Given the description of an element on the screen output the (x, y) to click on. 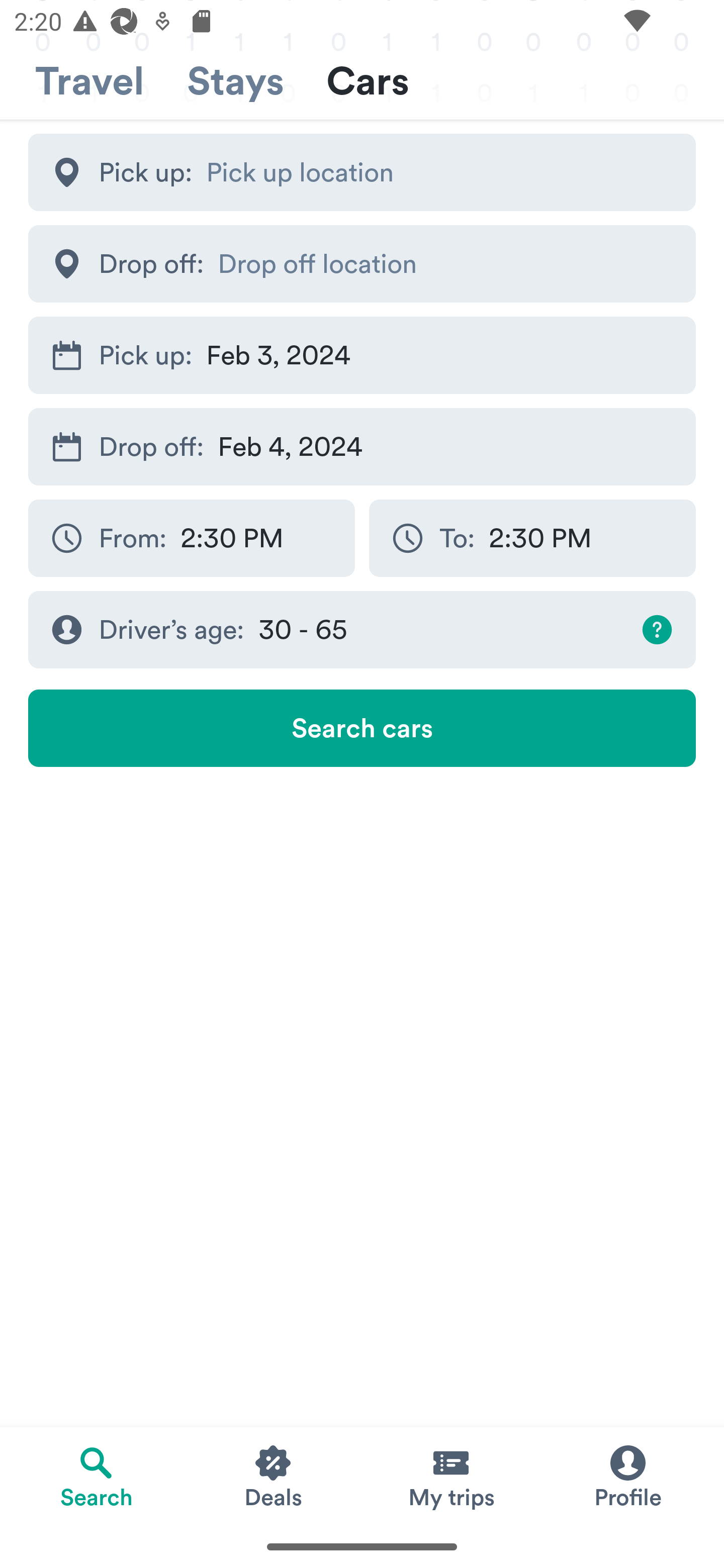
Travel (89, 81)
Stays (235, 81)
Cars (367, 81)
Pick up: (361, 172)
Drop off: (361, 263)
Pick up: Feb 3, 2024 (361, 355)
Drop off: Feb 4, 2024 (361, 446)
From: 2:30 PM (191, 537)
To: 2:30 PM (532, 537)
Driver’s age: 30 - 65 (361, 630)
Search cars (361, 727)
Deals (273, 1475)
My trips (450, 1475)
Profile (627, 1475)
